Given the description of an element on the screen output the (x, y) to click on. 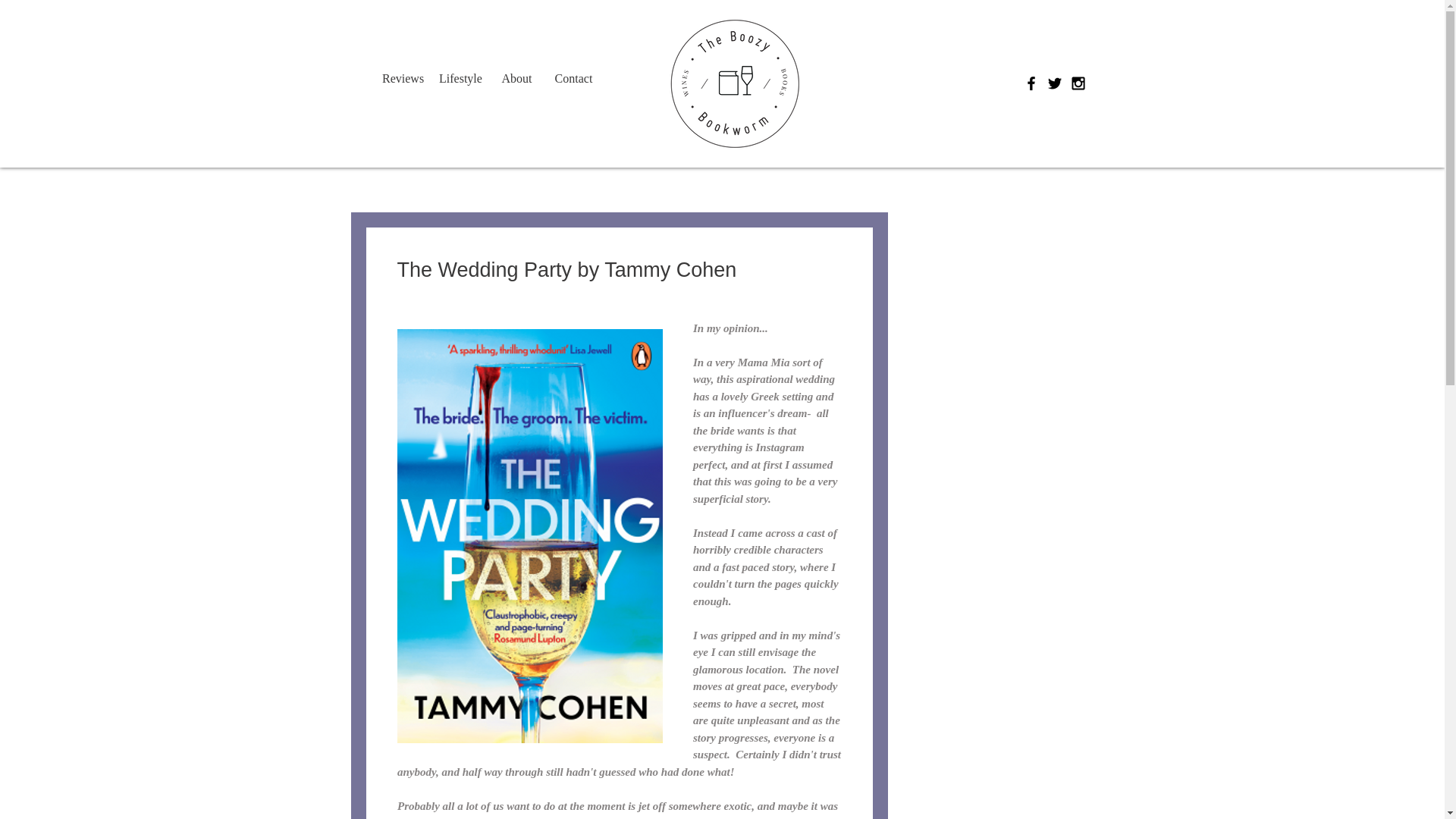
Reviews (402, 78)
About (515, 78)
Contact (573, 78)
Lifestyle (458, 78)
